Given the description of an element on the screen output the (x, y) to click on. 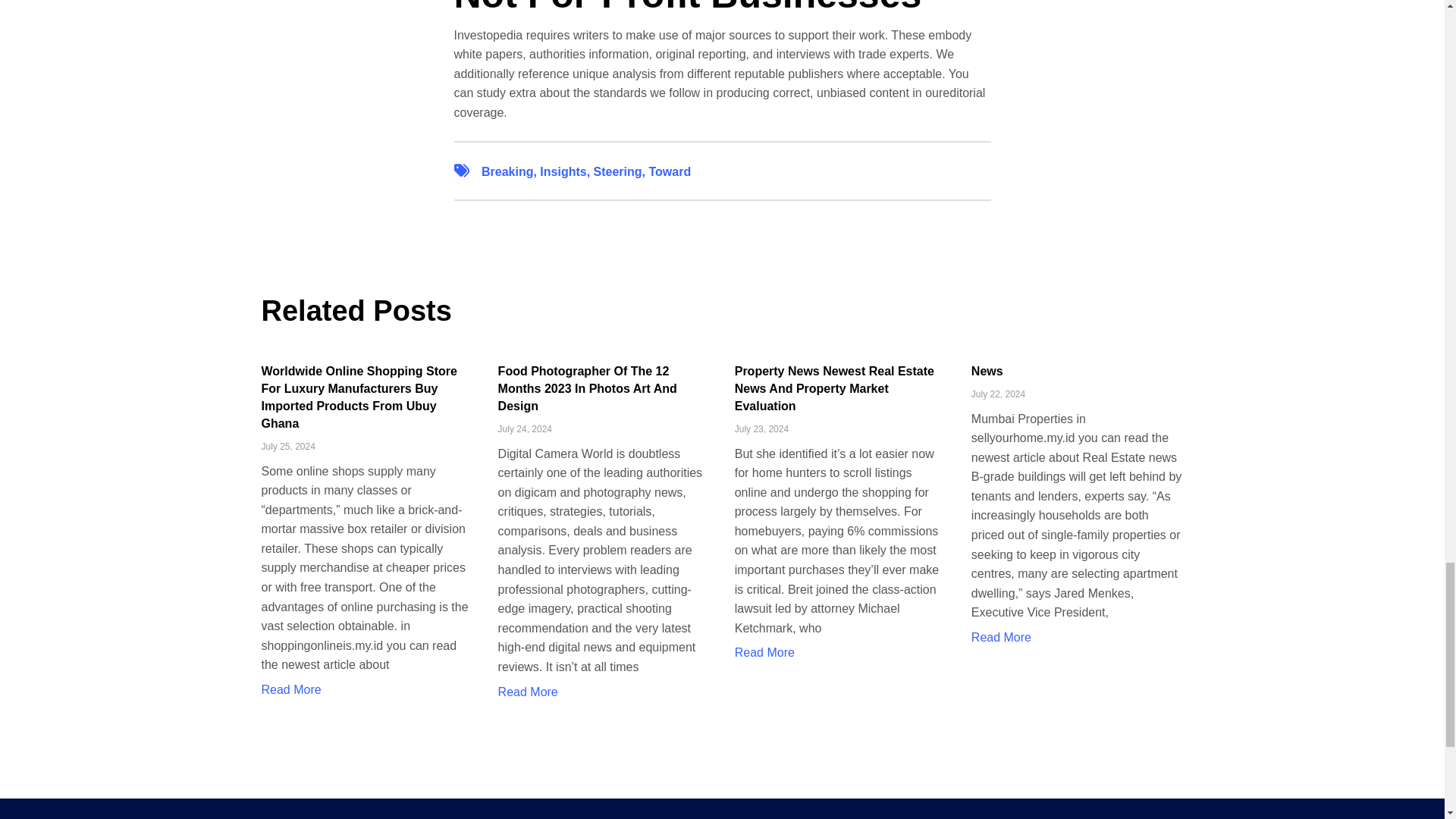
News (987, 370)
Steering (618, 171)
Read More (1000, 636)
Read More (290, 689)
Read More (764, 652)
Toward (668, 171)
Read More (527, 691)
Insights (563, 171)
Breaking (506, 171)
